Given the description of an element on the screen output the (x, y) to click on. 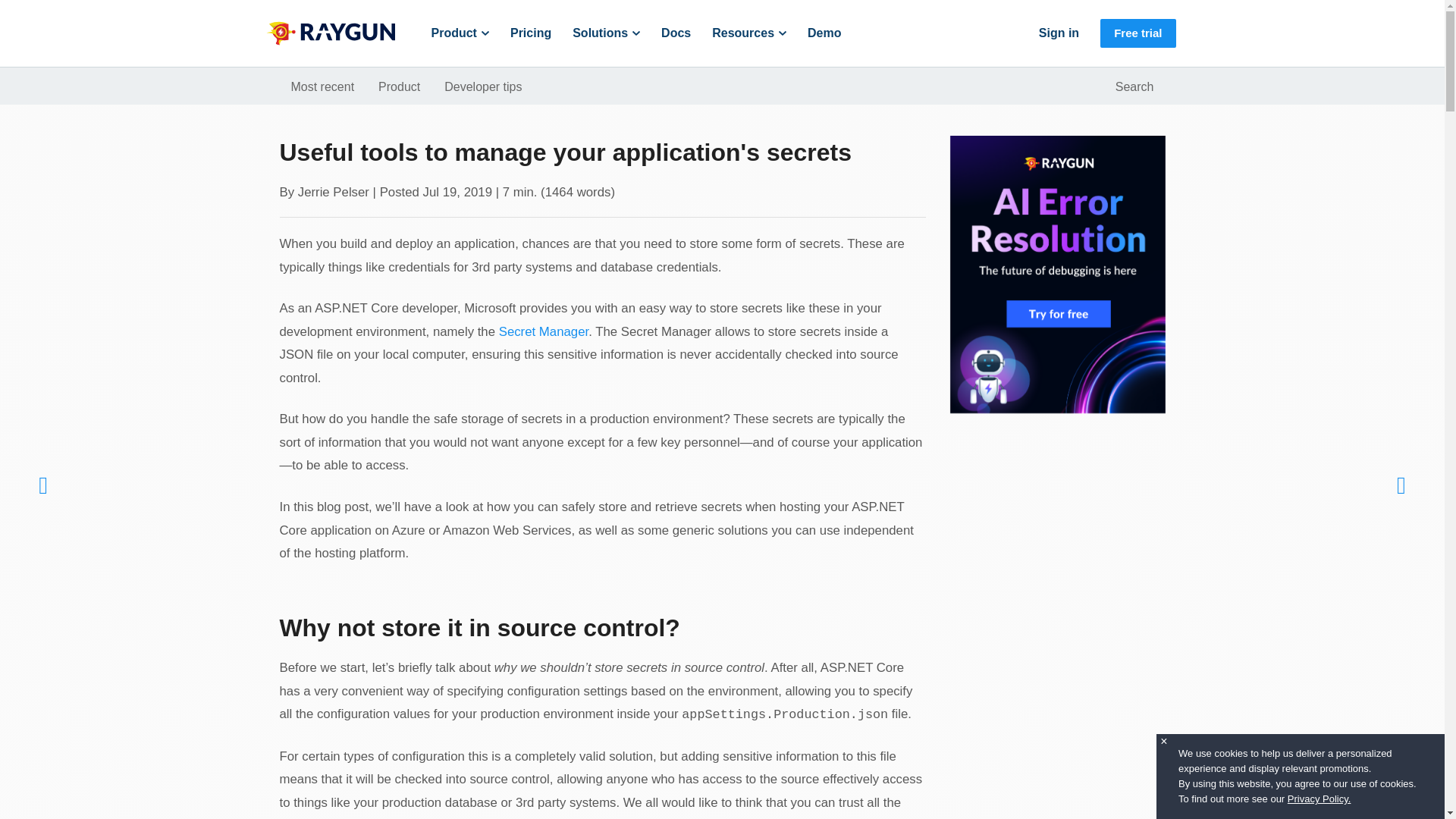
Secret Manager (543, 331)
Product (399, 86)
Developer tips (483, 86)
Search (1134, 86)
Sign in (1058, 32)
Demo (824, 32)
Most recent (322, 86)
Free trial (1137, 32)
Pricing (531, 32)
Docs (675, 32)
